Given the description of an element on the screen output the (x, y) to click on. 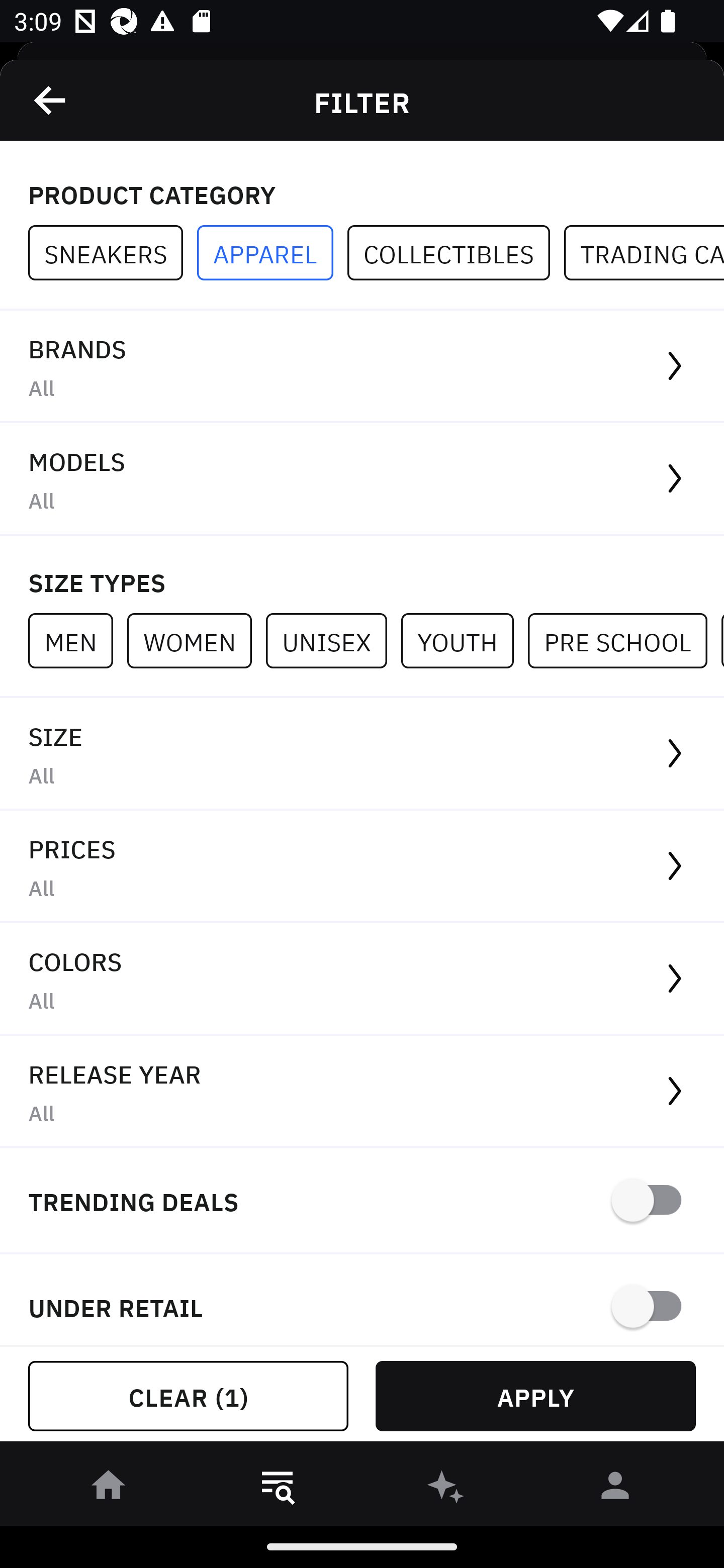
 (50, 100)
SNEAKERS (112, 252)
APPAREL (271, 252)
COLLECTIBLES (455, 252)
TRADING CARDS (643, 252)
BRANDS All (362, 366)
MODELS All (362, 479)
MEN (77, 640)
WOMEN (196, 640)
UNISEX (333, 640)
YOUTH (464, 640)
PRE SCHOOL (624, 640)
SIZE All (362, 753)
PRICES All (362, 866)
COLORS All (362, 979)
RELEASE YEAR All (362, 1091)
TRENDING DEALS (362, 1200)
UNDER RETAIL (362, 1299)
CLEAR (1) (188, 1396)
APPLY (535, 1396)
󰋜 (108, 1488)
󱎸 (277, 1488)
󰫢 (446, 1488)
󰀄 (615, 1488)
